Given the description of an element on the screen output the (x, y) to click on. 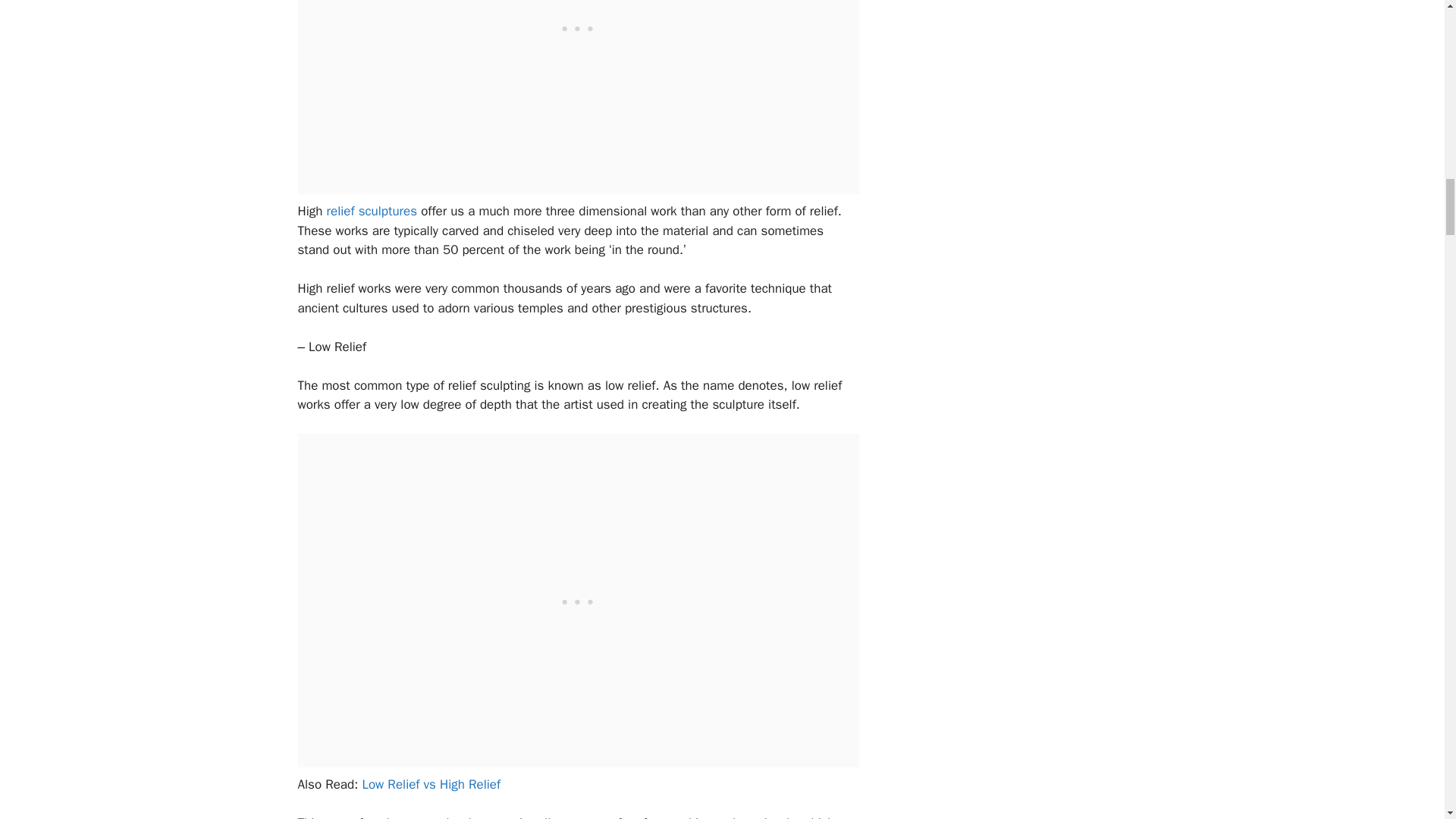
Low Relief vs High Relief (430, 784)
relief sculptures (371, 211)
